Given the description of an element on the screen output the (x, y) to click on. 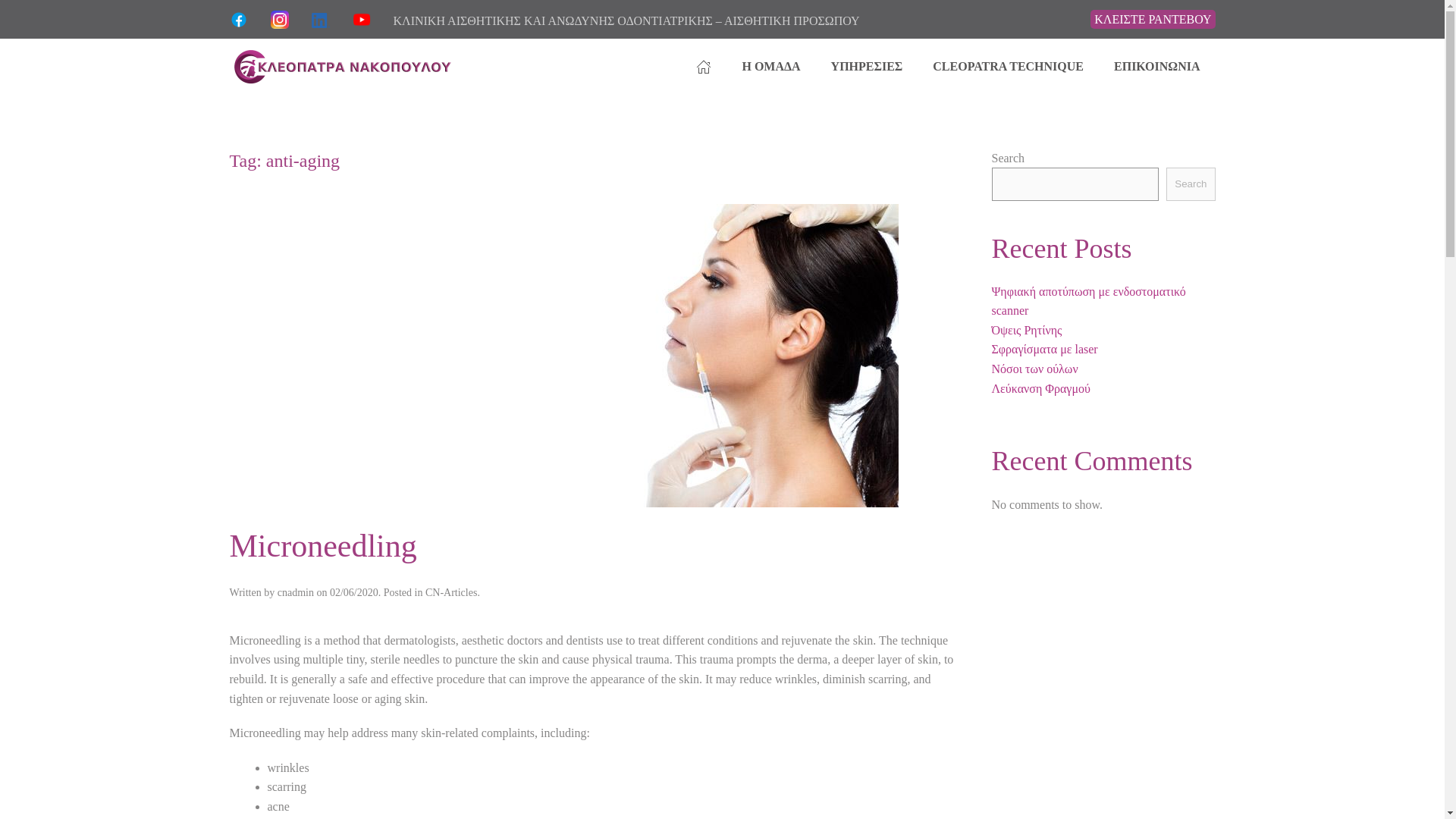
Search (1190, 183)
Microneedling (322, 545)
cnadmin (296, 592)
CN-Articles (451, 592)
CLEOPATRA TECHNIQUE (1008, 66)
